Given the description of an element on the screen output the (x, y) to click on. 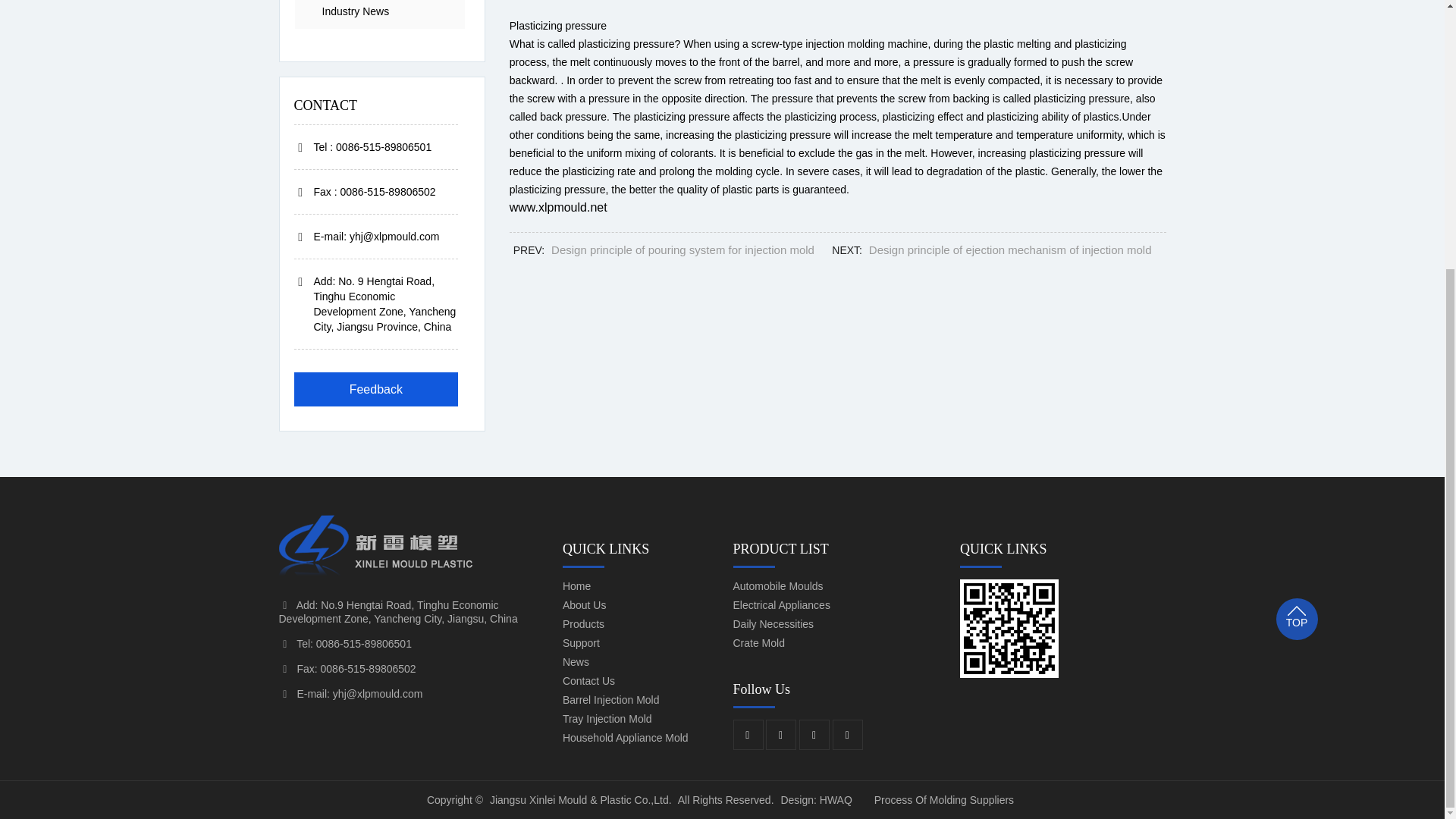
About Us (636, 605)
Industry News (379, 14)
Support (636, 643)
Products (636, 624)
Tray Injection Mold (636, 719)
News (636, 662)
Barrel Injection Mold (636, 700)
Contact Us (636, 681)
Feedback (376, 389)
Design principle of ejection mechanism of injection mold (1010, 249)
Design principle of pouring system for injection mold (682, 249)
www.xlpmould.net (558, 206)
Home (636, 586)
